Given the description of an element on the screen output the (x, y) to click on. 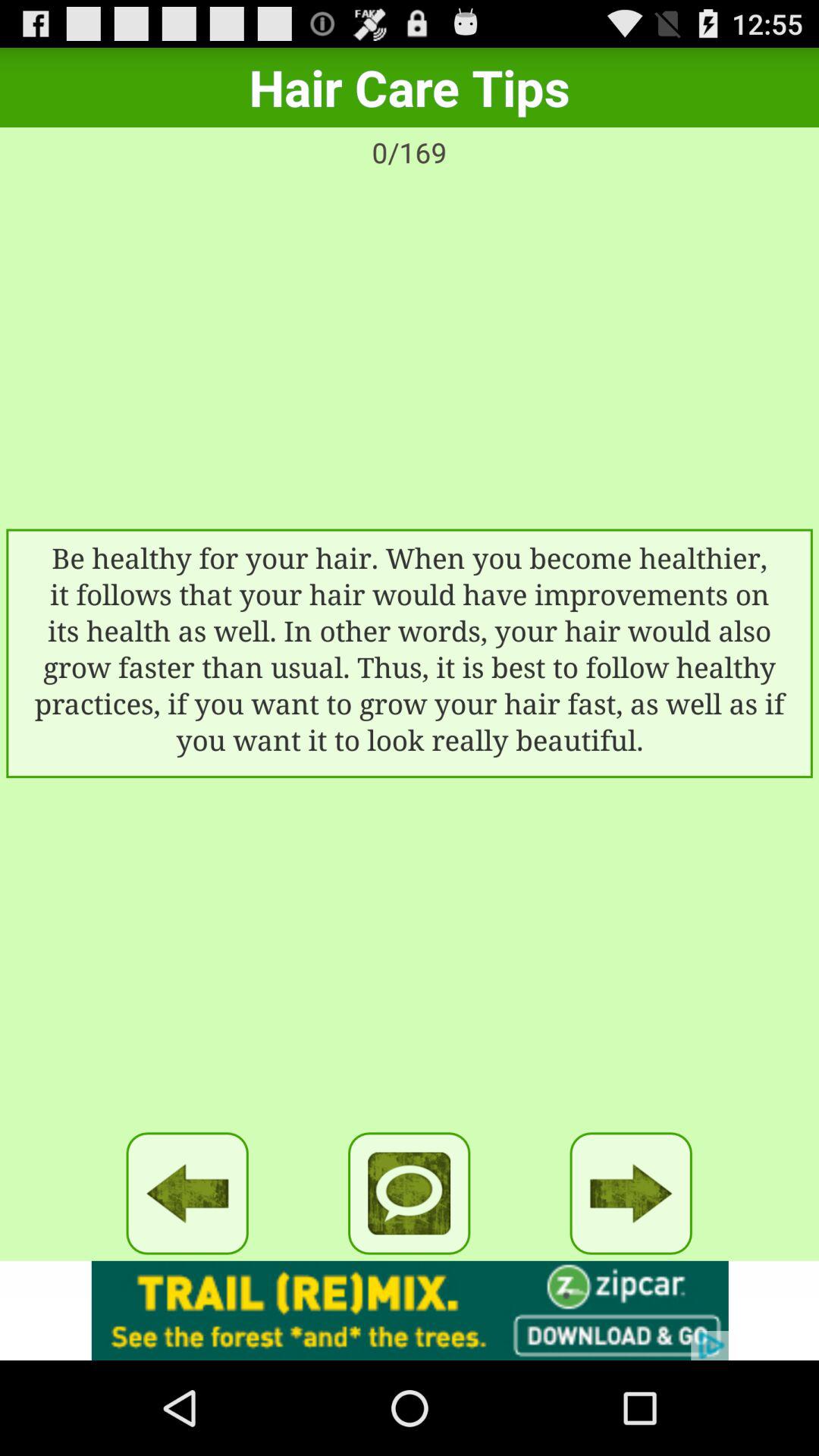
go next (630, 1193)
